Given the description of an element on the screen output the (x, y) to click on. 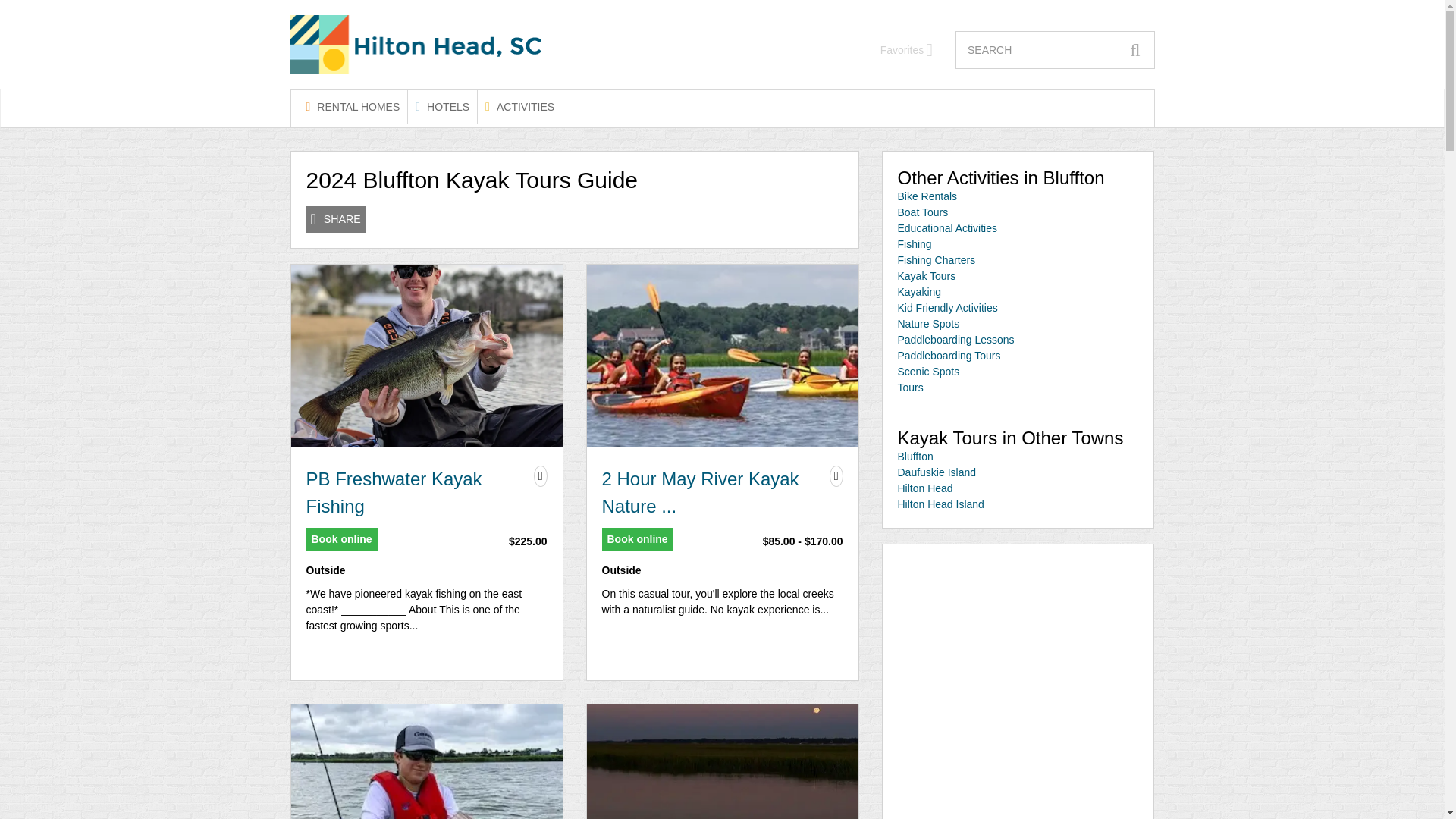
PB Freshwater Kayak Fishing (415, 493)
Advertisement (1018, 650)
Favorites (906, 49)
2 Hour May River Kayak Nature ... (712, 493)
SHARE (335, 218)
Advertisement (1018, 787)
RENTAL HOMES (352, 106)
HOTELS (442, 106)
Book online (341, 539)
